Given the description of an element on the screen output the (x, y) to click on. 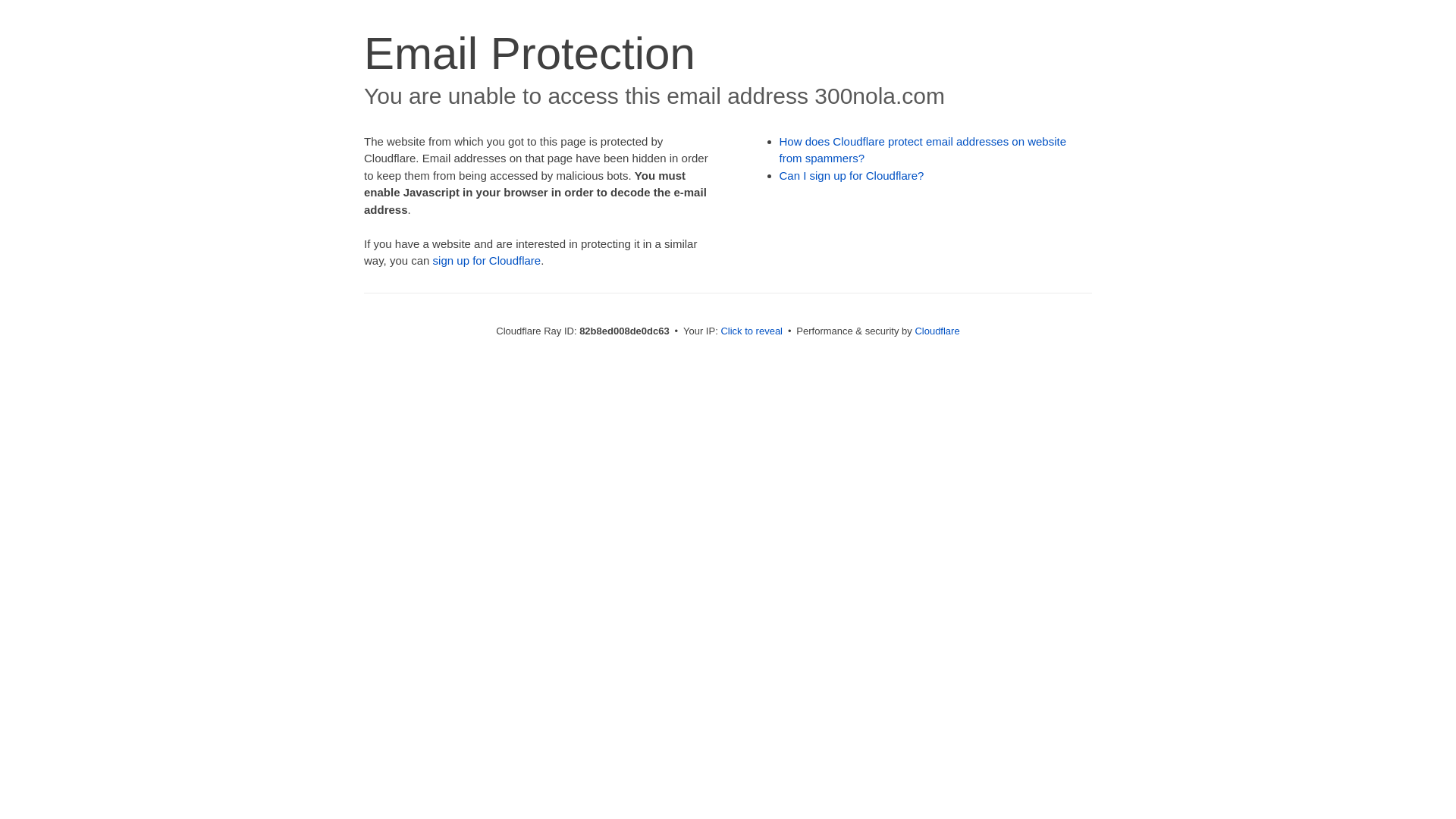
Cloudflare Element type: text (936, 330)
sign up for Cloudflare Element type: text (487, 260)
Click to reveal Element type: text (751, 330)
Can I sign up for Cloudflare? Element type: text (851, 175)
